Given the description of an element on the screen output the (x, y) to click on. 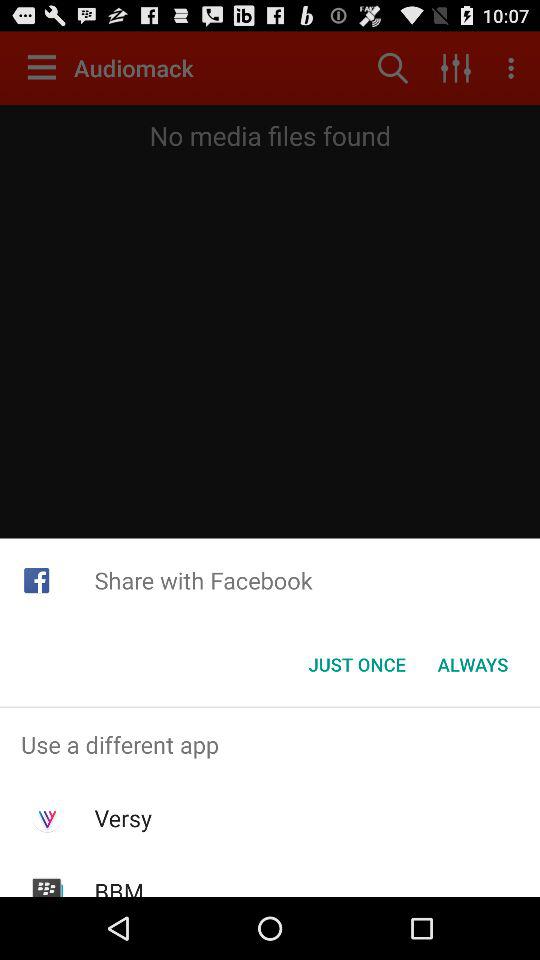
open icon below share with facebook icon (356, 664)
